Given the description of an element on the screen output the (x, y) to click on. 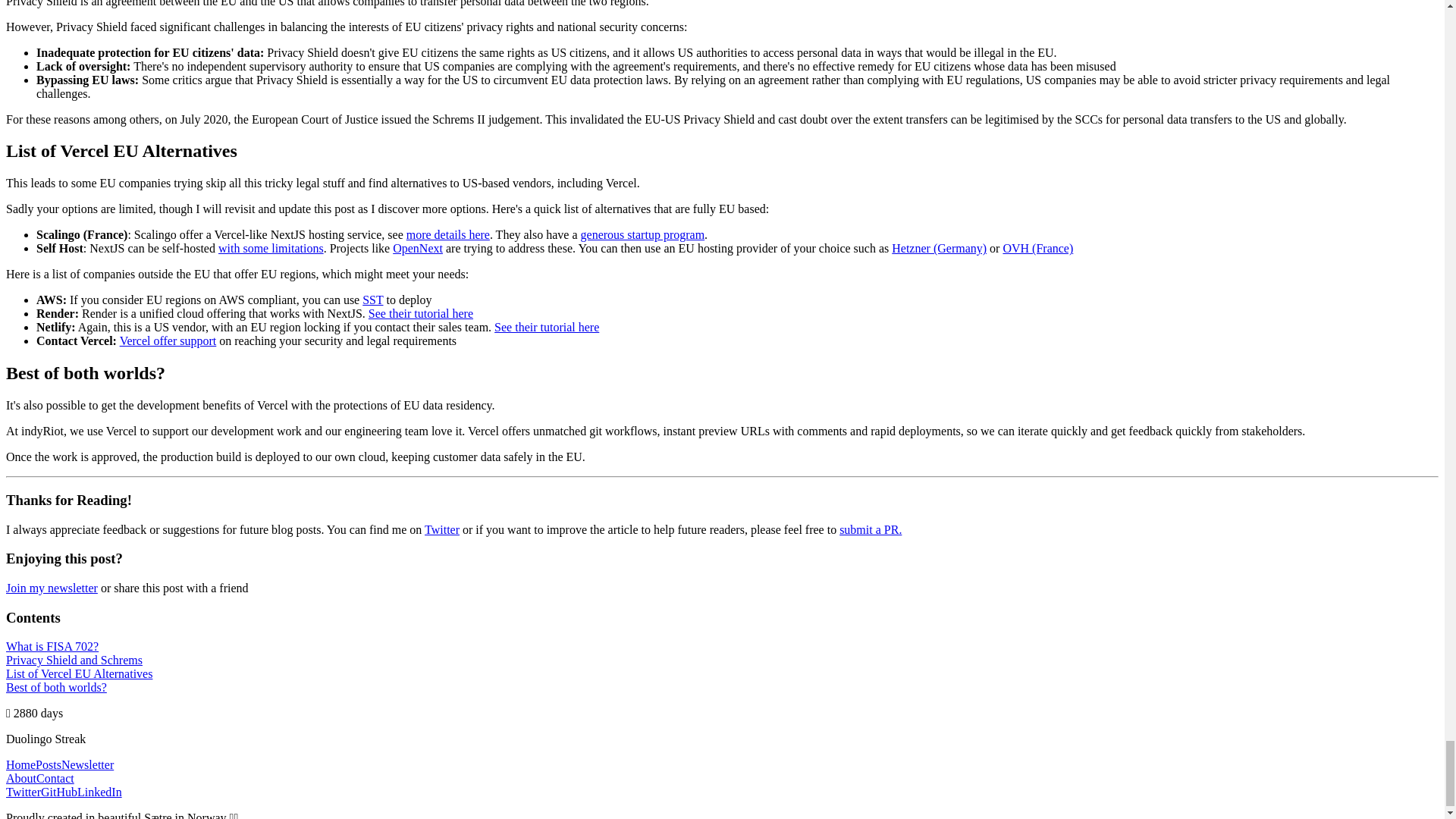
SST (372, 299)
generous startup program (642, 234)
Privacy Shield and Schrems (73, 659)
See their tutorial here (420, 313)
What is FISA 702? (52, 645)
OpenNext (417, 247)
Posts (47, 764)
List of Vercel EU Alternatives (78, 673)
Newsletter (87, 764)
See their tutorial here (546, 327)
Vercel offer support (167, 340)
Join my newsletter (51, 587)
Twitter (22, 791)
submit a PR. (870, 529)
Contact (55, 778)
